Given the description of an element on the screen output the (x, y) to click on. 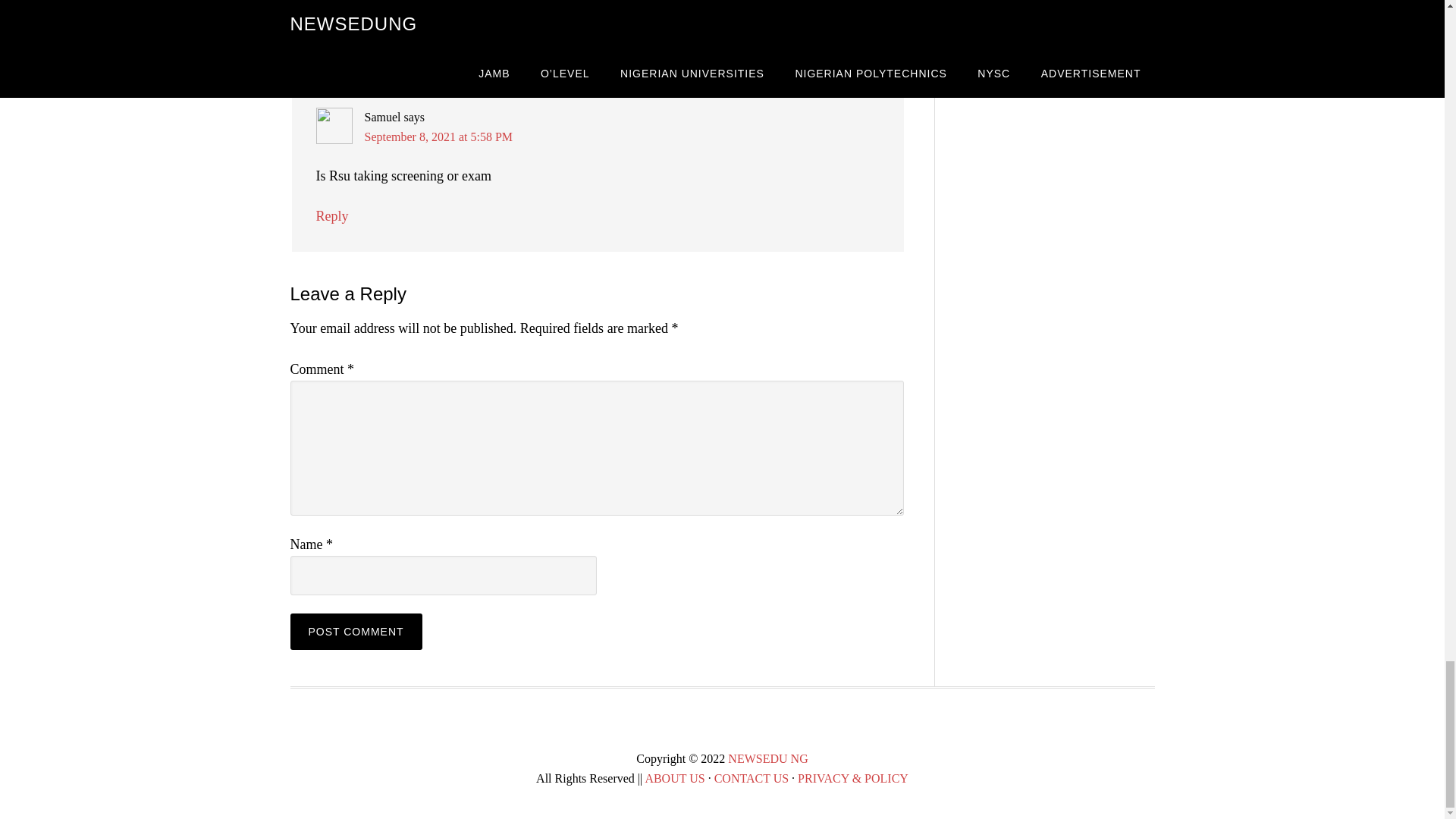
Reply (331, 215)
Post Comment (355, 631)
Post Comment (355, 631)
Reply (331, 26)
September 8, 2021 at 5:58 PM (438, 136)
